Given the description of an element on the screen output the (x, y) to click on. 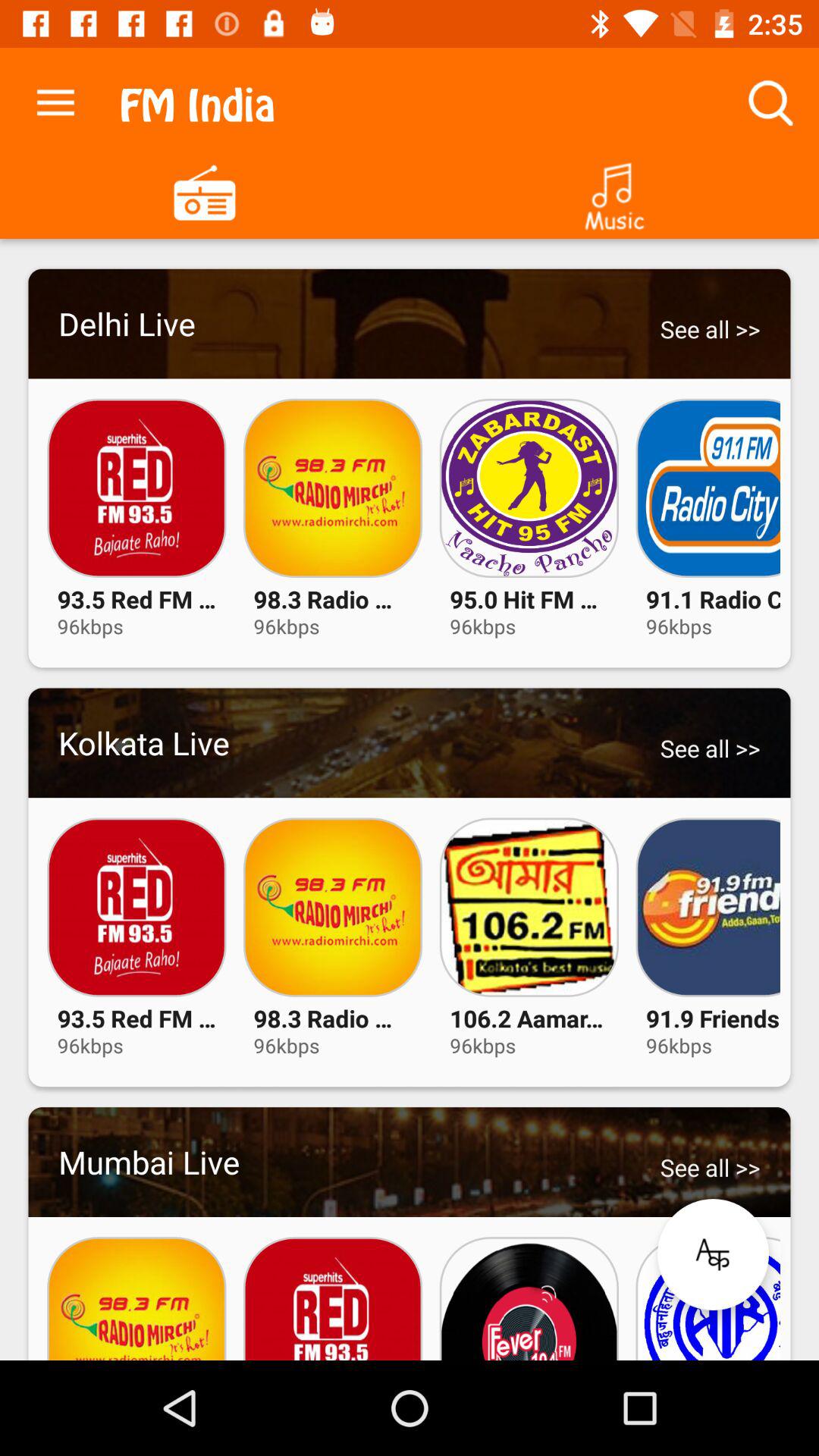
click fm (204, 190)
